Given the description of an element on the screen output the (x, y) to click on. 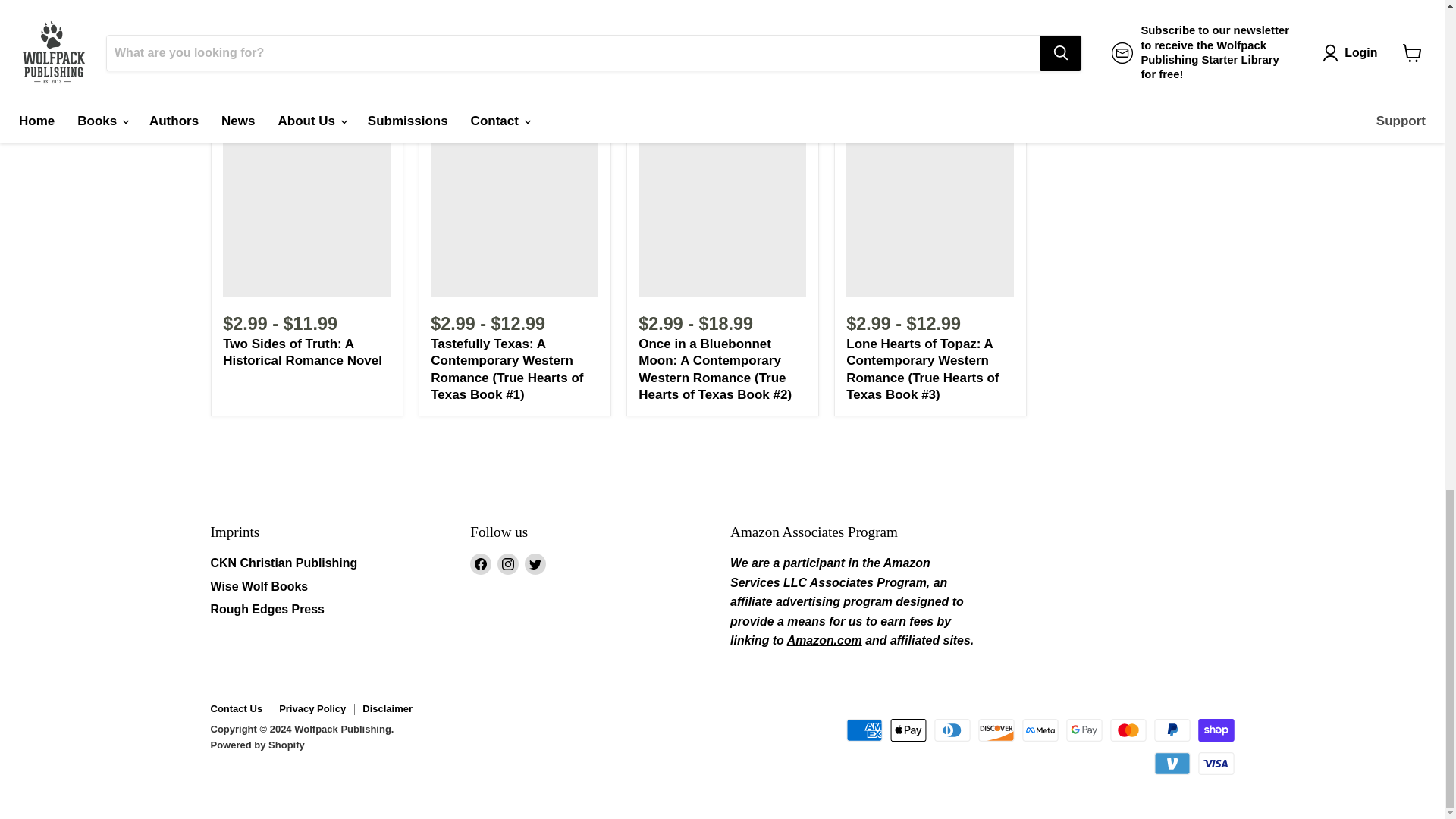
Apple Pay (907, 730)
Discover (996, 730)
American Express (863, 730)
Diners Club (952, 730)
Instagram (507, 563)
Facebook (481, 563)
Twitter (535, 563)
